Given the description of an element on the screen output the (x, y) to click on. 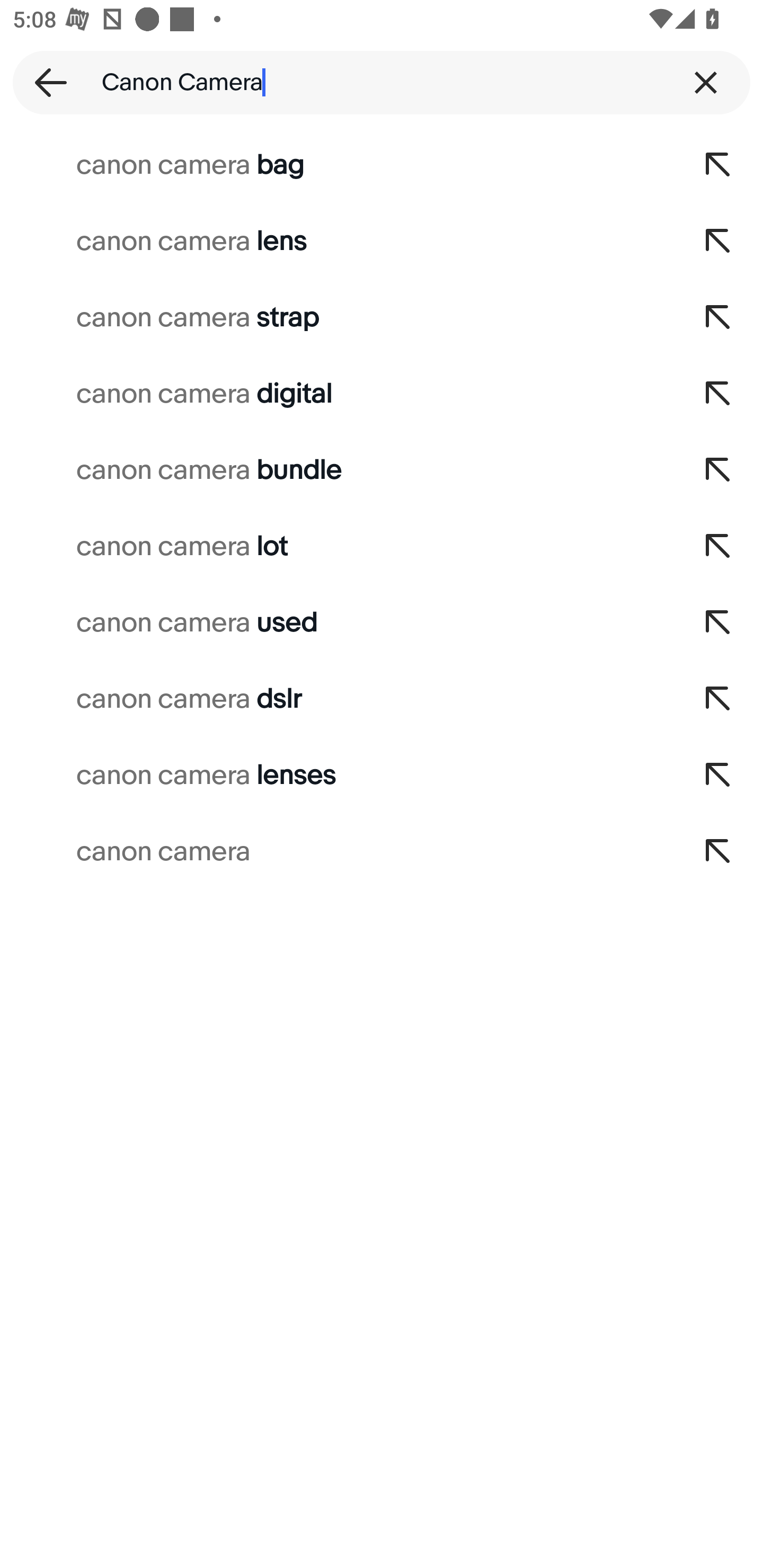
Back (44, 82)
Clear query (705, 82)
Canon Camera (381, 82)
canon camera bag (336, 165)
Add to search query,canon camera bag (718, 165)
canon camera lens (336, 241)
Add to search query,canon camera lens (718, 241)
canon camera strap (336, 317)
Add to search query,canon camera strap (718, 317)
canon camera digital (336, 393)
Add to search query,canon camera digital (718, 393)
canon camera bundle (336, 470)
Add to search query,canon camera bundle (718, 470)
canon camera lot (336, 546)
Add to search query,canon camera lot (718, 546)
canon camera used (336, 622)
Add to search query,canon camera used (718, 622)
canon camera dslr (336, 698)
Add to search query,canon camera dslr (718, 698)
canon camera lenses (336, 774)
Add to search query,canon camera lenses (718, 774)
canon camera (336, 851)
Add to search query,canon camera (718, 851)
